Given the description of an element on the screen output the (x, y) to click on. 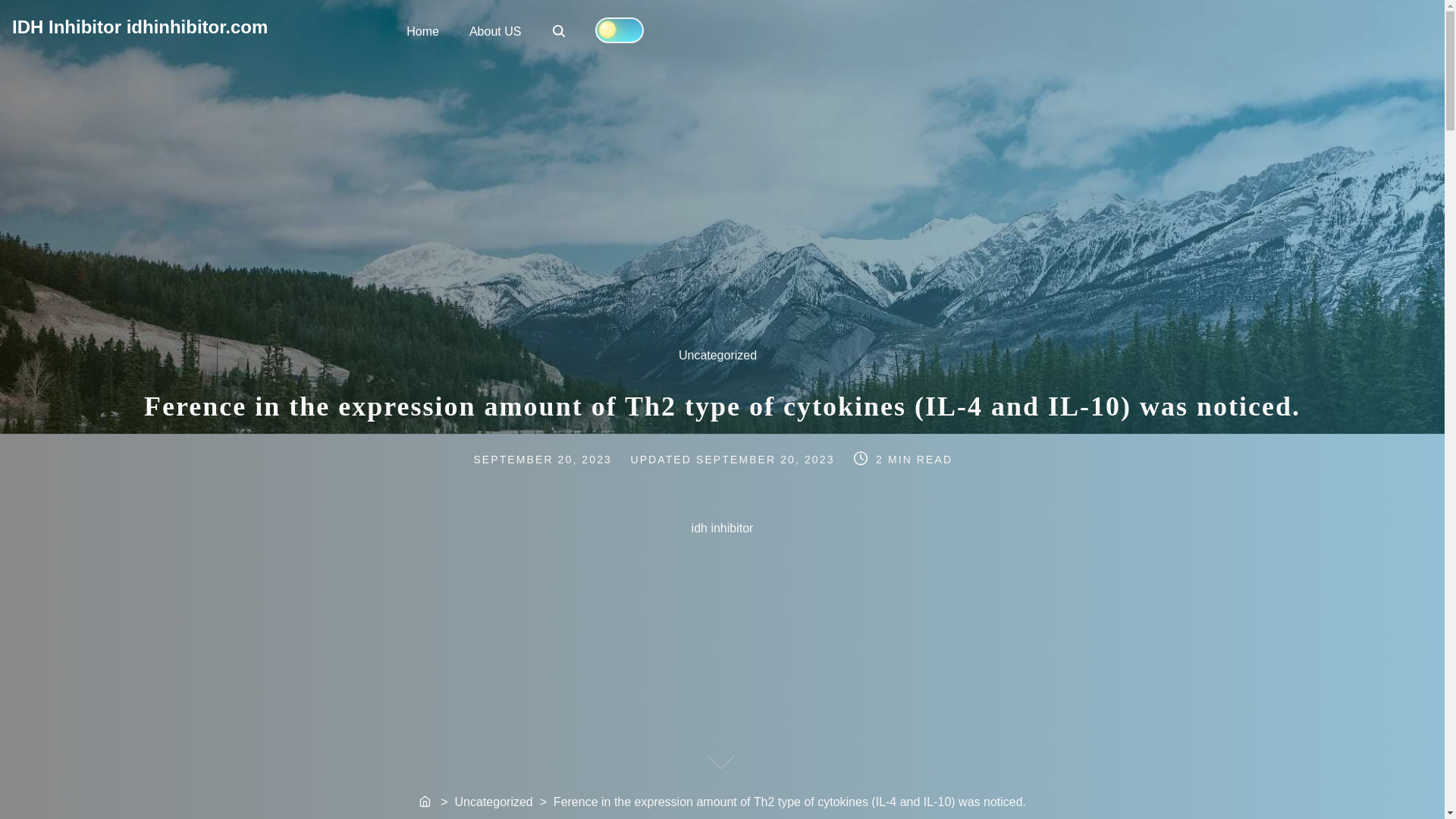
Uncategorized (724, 361)
About US (494, 30)
IDH Inhibitor idhinhibitor.com (139, 26)
Home (422, 30)
SEPTEMBER 20, 2023 (558, 458)
Search (558, 30)
SEPTEMBER 20, 2023 (766, 459)
Home (426, 802)
